Given the description of an element on the screen output the (x, y) to click on. 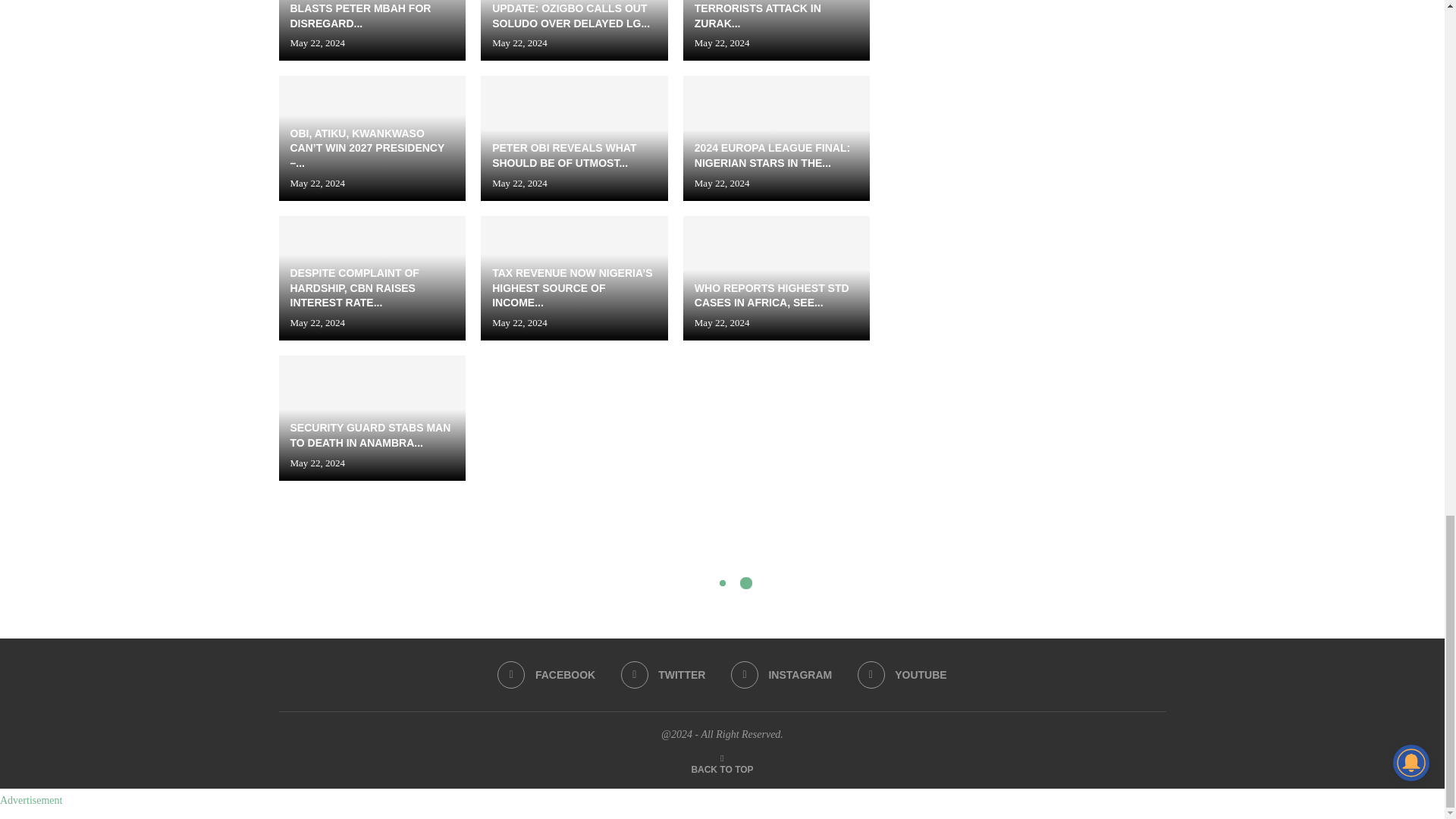
2024 Europa League Final: Nigerian Stars in the Spotlight (776, 137)
UPDATE: Ozigbo Calls Out Soludo Over Delayed LG Elections (574, 30)
